Given the description of an element on the screen output the (x, y) to click on. 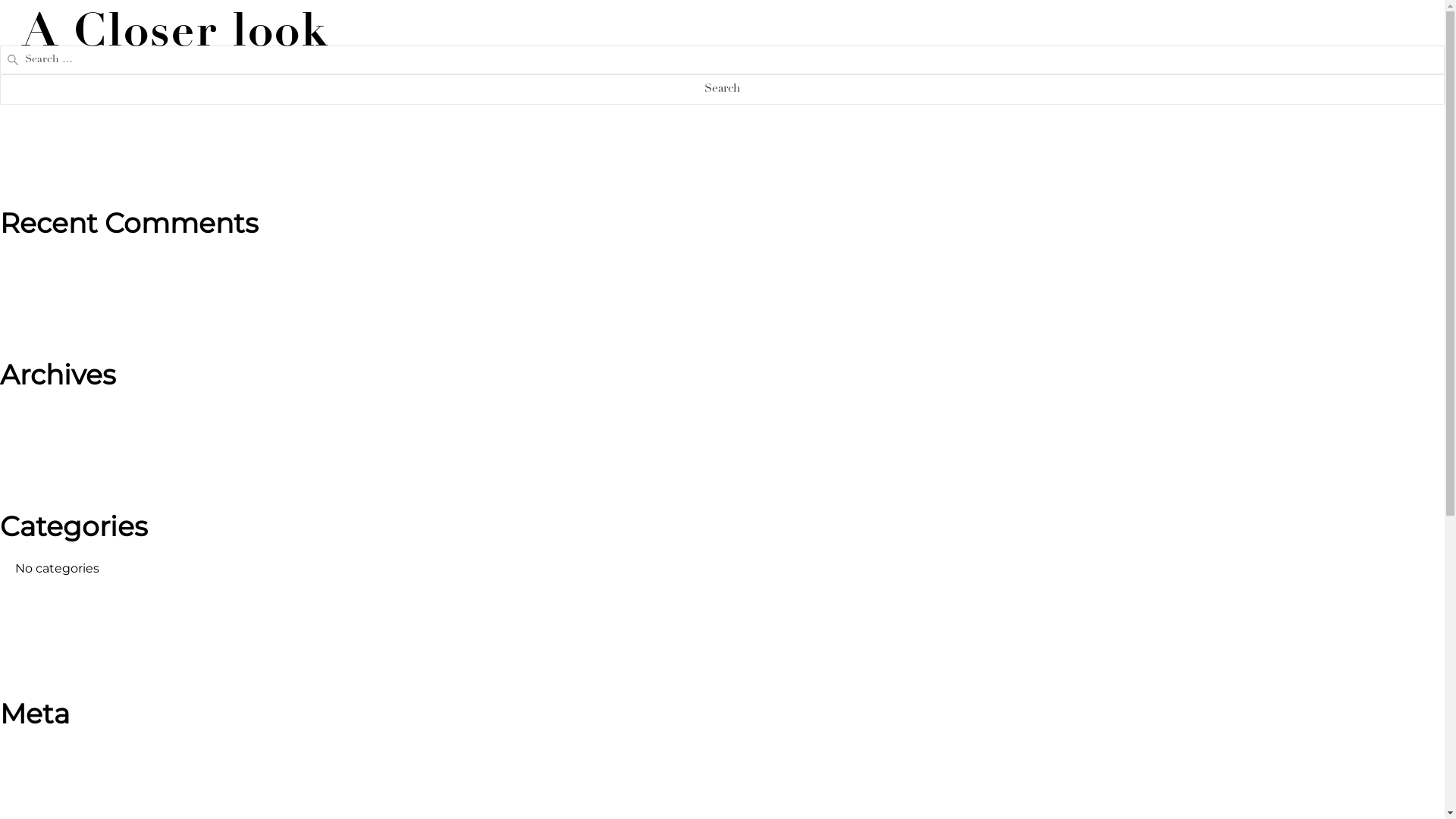
Gallery Element type: text (867, 33)
Contact Element type: text (1393, 33)
Features & Amenities Element type: text (983, 33)
Sustainability Element type: text (1119, 33)
Entries feed Element type: text (51, 778)
Availability Element type: text (1223, 33)
Log in Element type: text (33, 754)
Search Element type: text (722, 89)
Comments feed Element type: text (65, 803)
Location Element type: text (1312, 33)
